Given the description of an element on the screen output the (x, y) to click on. 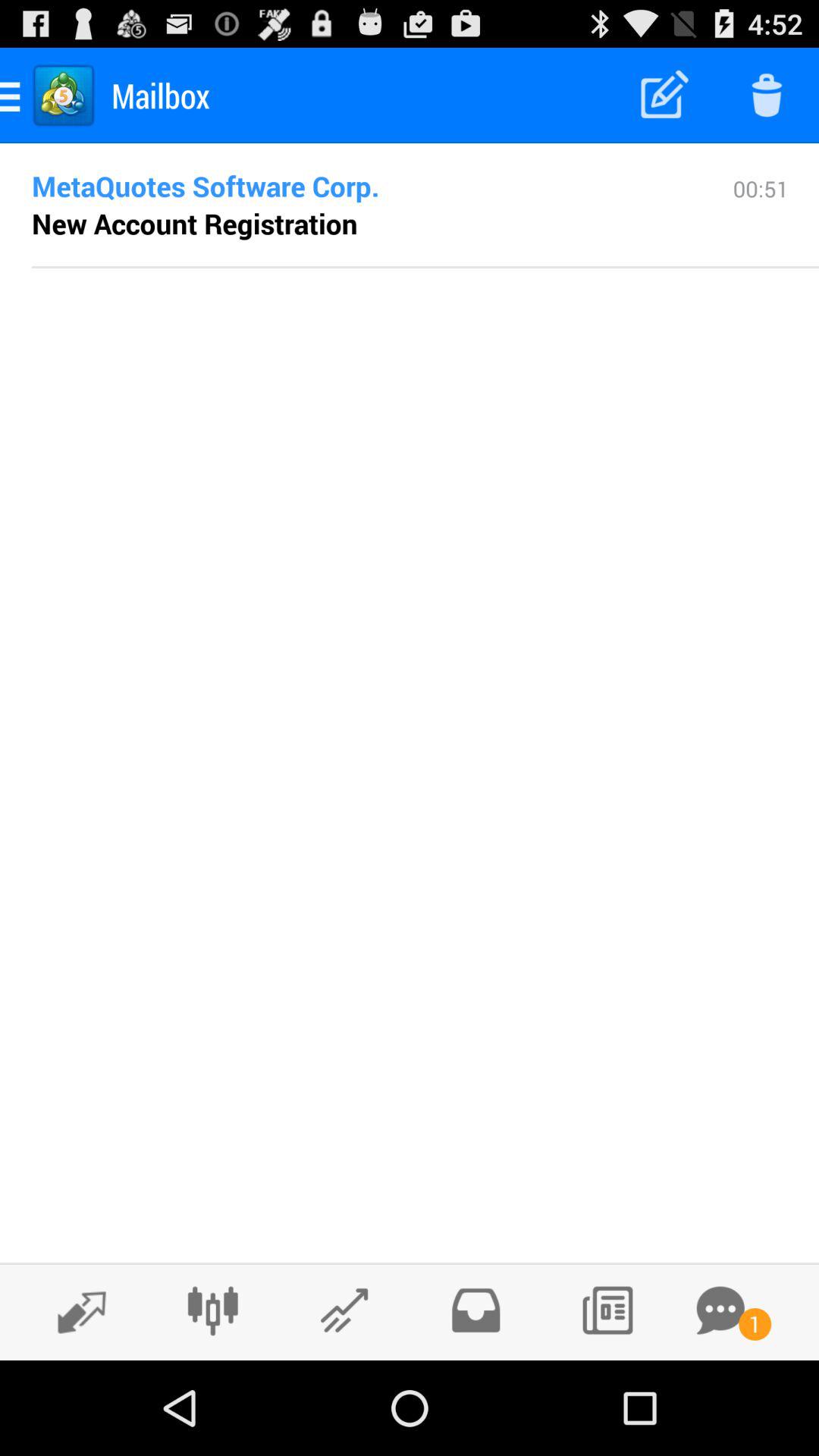
click the 00:51 icon (760, 219)
